Given the description of an element on the screen output the (x, y) to click on. 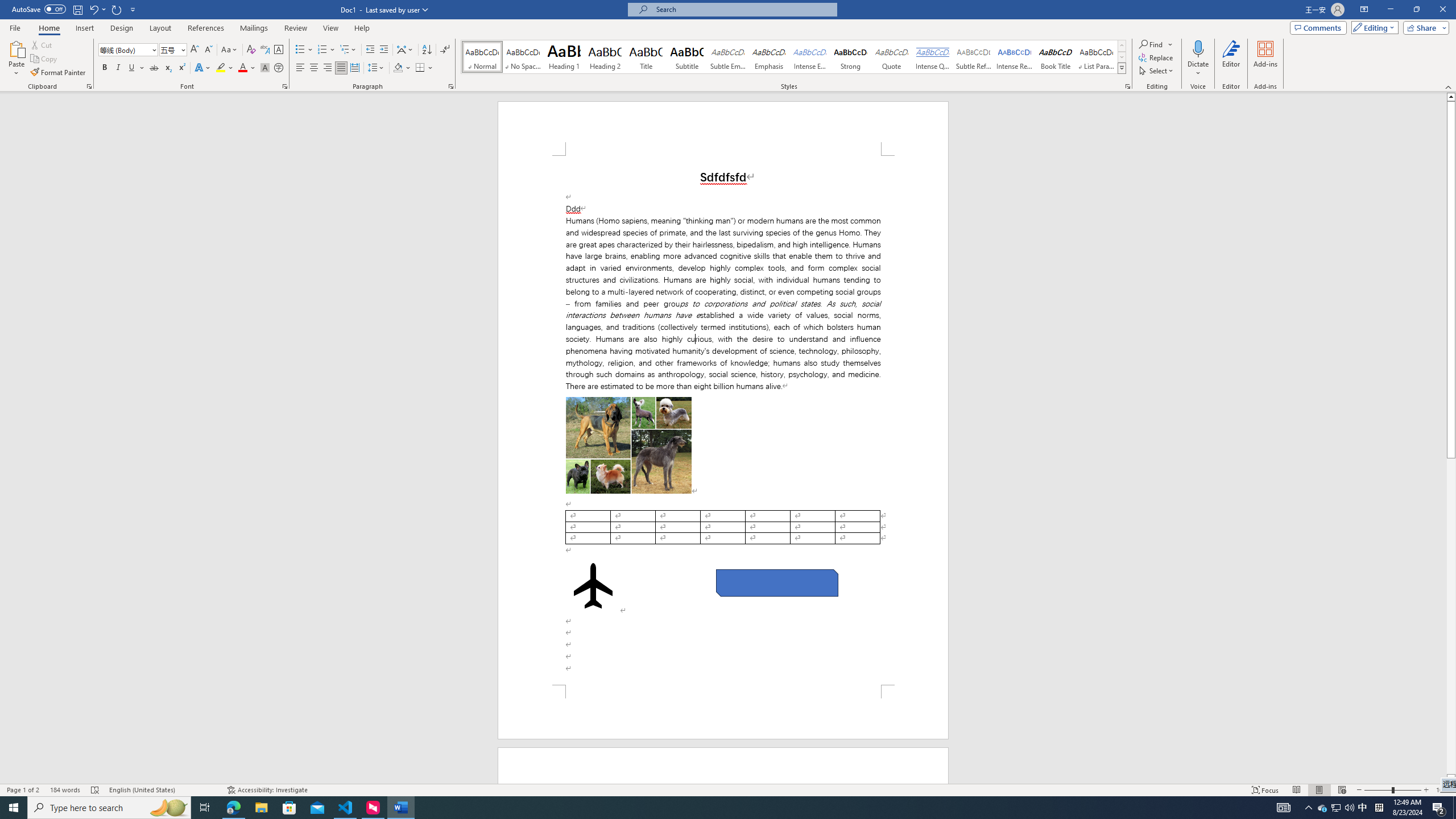
Title (646, 56)
Class: NetUIScrollBar (1450, 437)
